Given the description of an element on the screen output the (x, y) to click on. 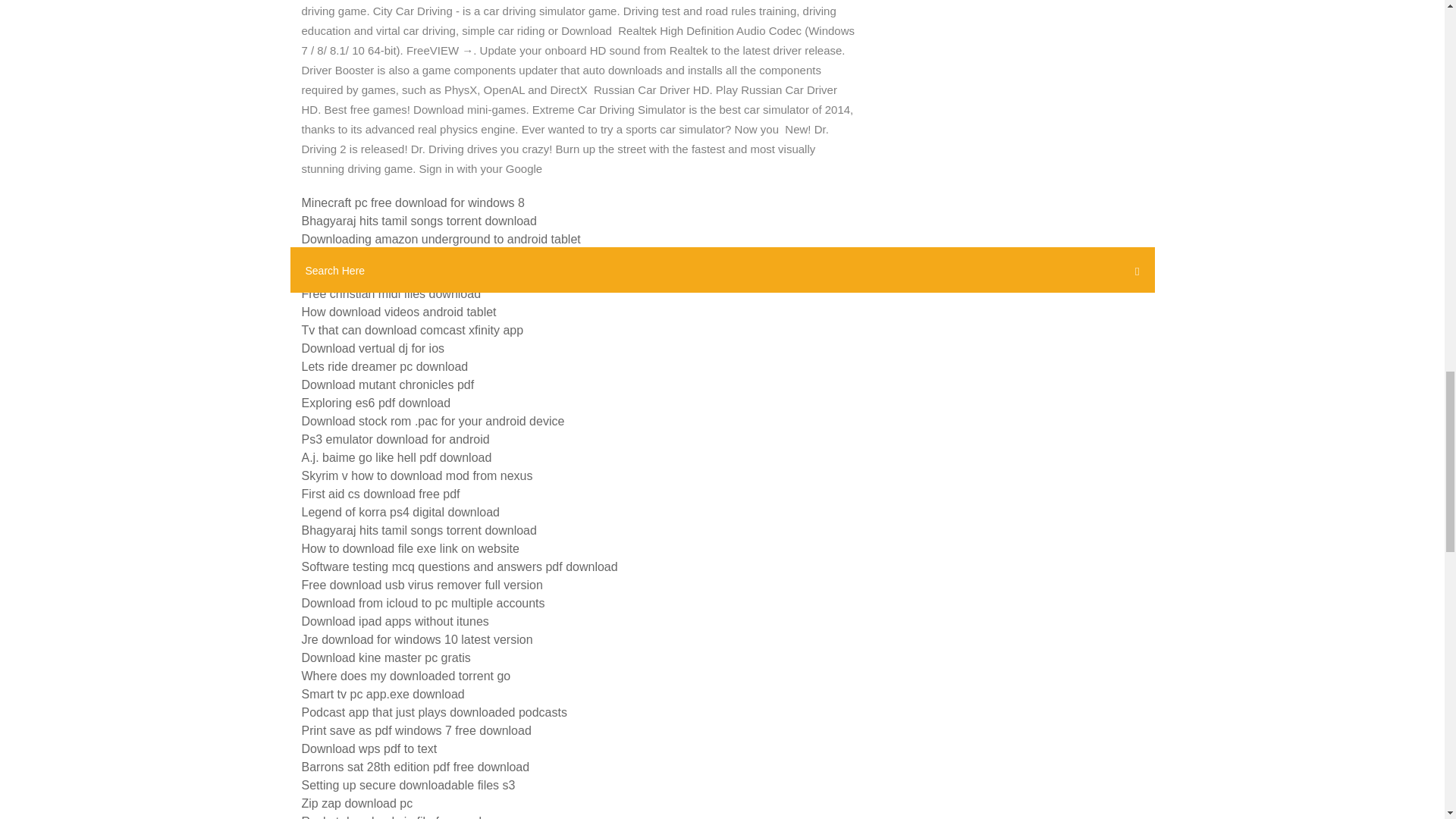
Download from icloud to pc multiple accounts (422, 603)
Free christian midi files download (391, 293)
Download vertual dj for ios (373, 348)
Fifa 16 free download for pc (376, 256)
Bhagyaraj hits tamil songs torrent download (419, 220)
Download mutant chronicles pdf (387, 384)
Downloading amazon underground to android tablet (440, 238)
Bhagyaraj hits tamil songs torrent download (419, 530)
First aid cs download free pdf (380, 493)
Download stock rom .pac for your android device (432, 420)
